Given the description of an element on the screen output the (x, y) to click on. 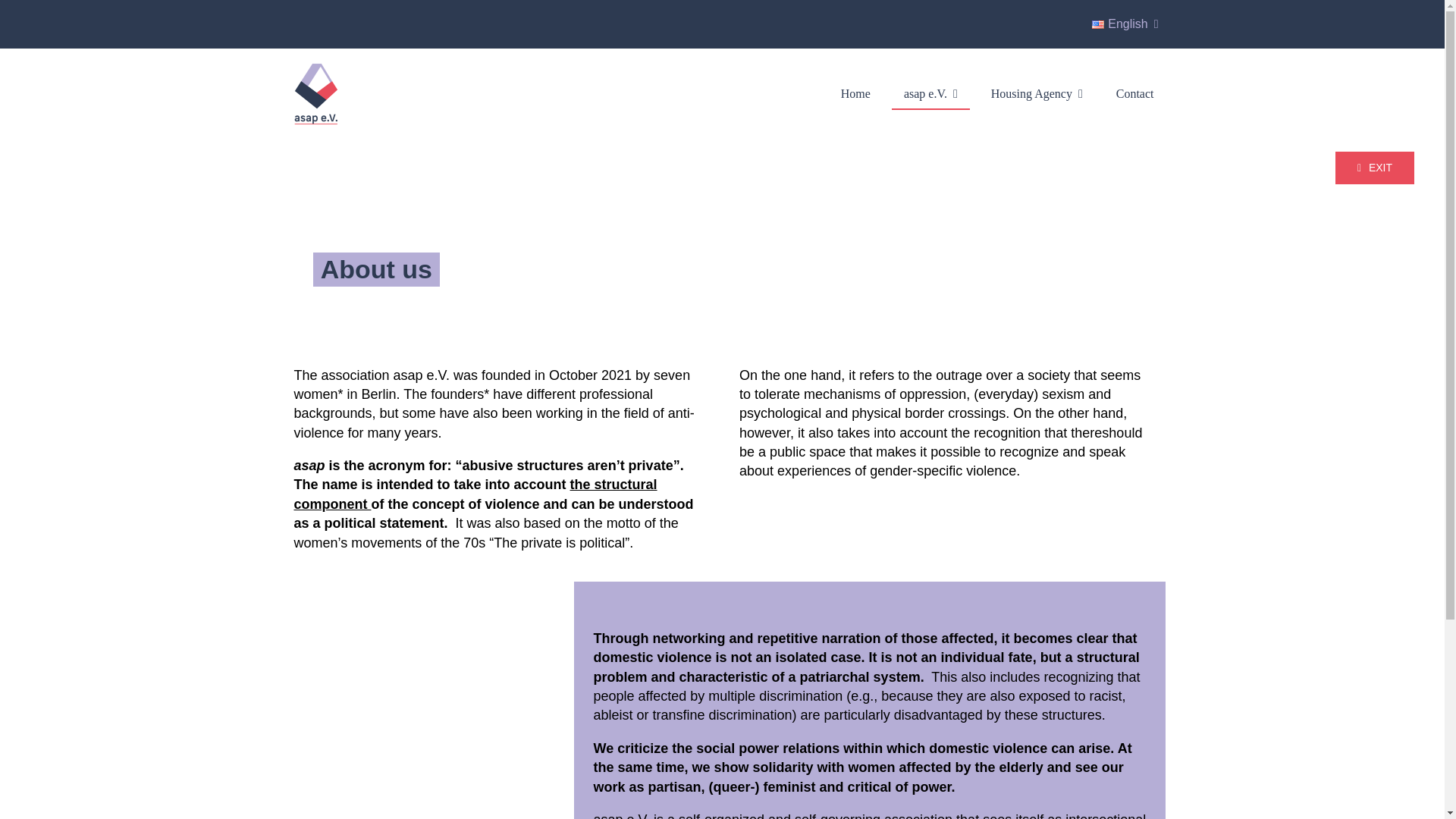
Home (855, 93)
asap e.V. (930, 93)
the structural component (475, 493)
Contact (1134, 93)
English (1129, 24)
EXIT (1374, 167)
Housing Agency (1036, 93)
